Given the description of an element on the screen output the (x, y) to click on. 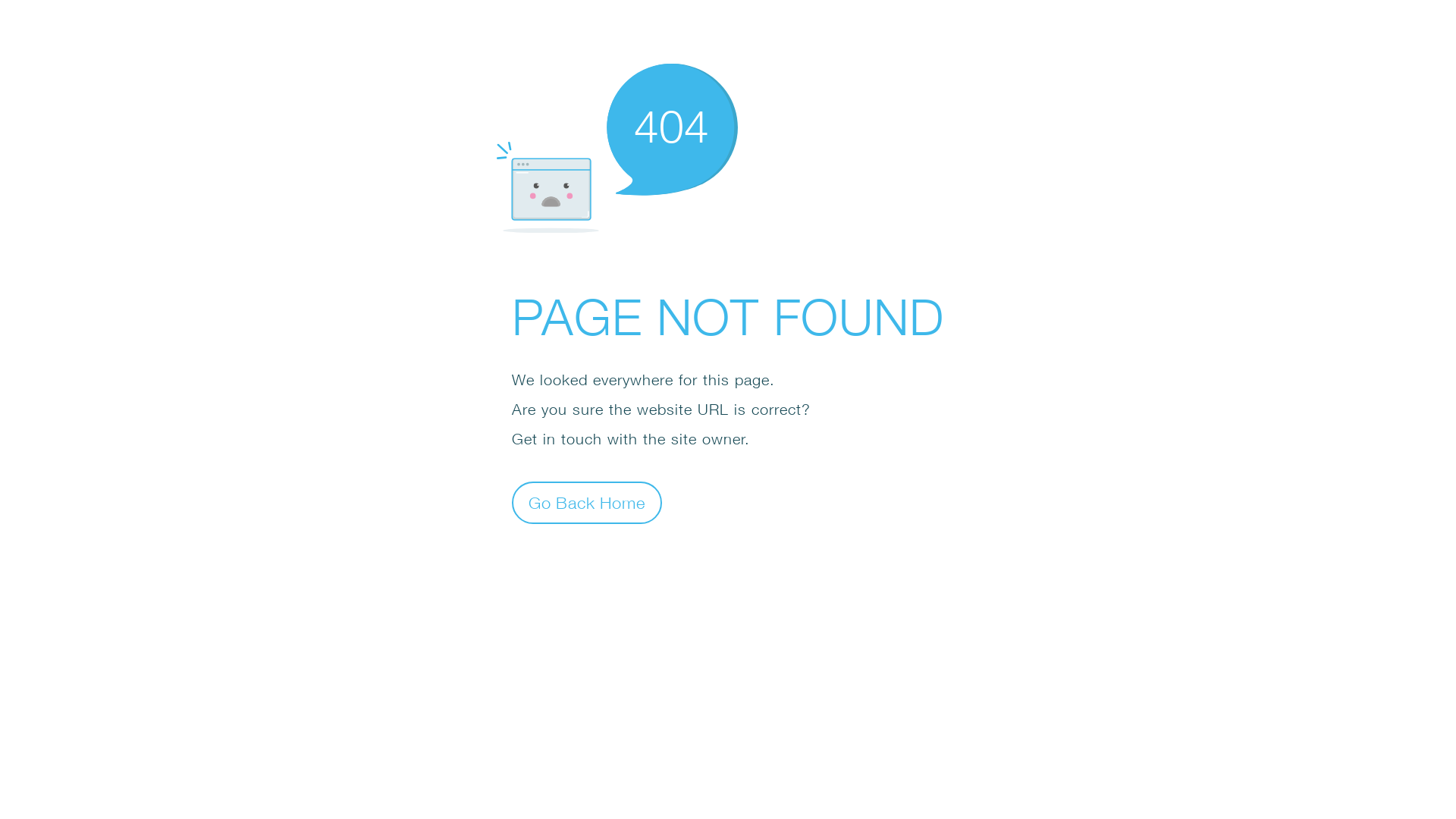
Go Back Home Element type: text (586, 502)
